Given the description of an element on the screen output the (x, y) to click on. 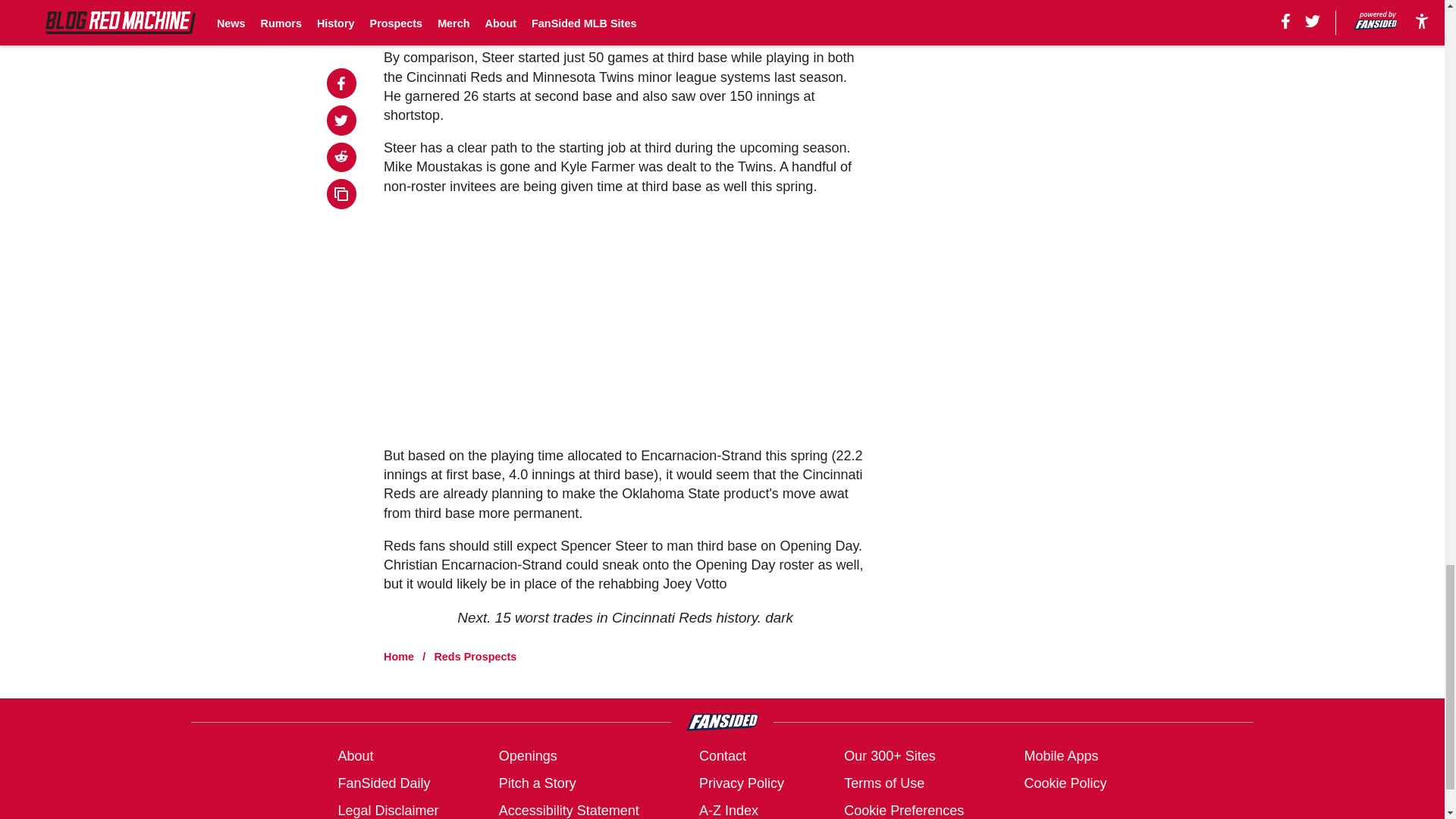
Contact (721, 755)
Home (398, 656)
About (354, 755)
Mobile Apps (1060, 755)
Reds Prospects (474, 656)
Openings (528, 755)
